Given the description of an element on the screen output the (x, y) to click on. 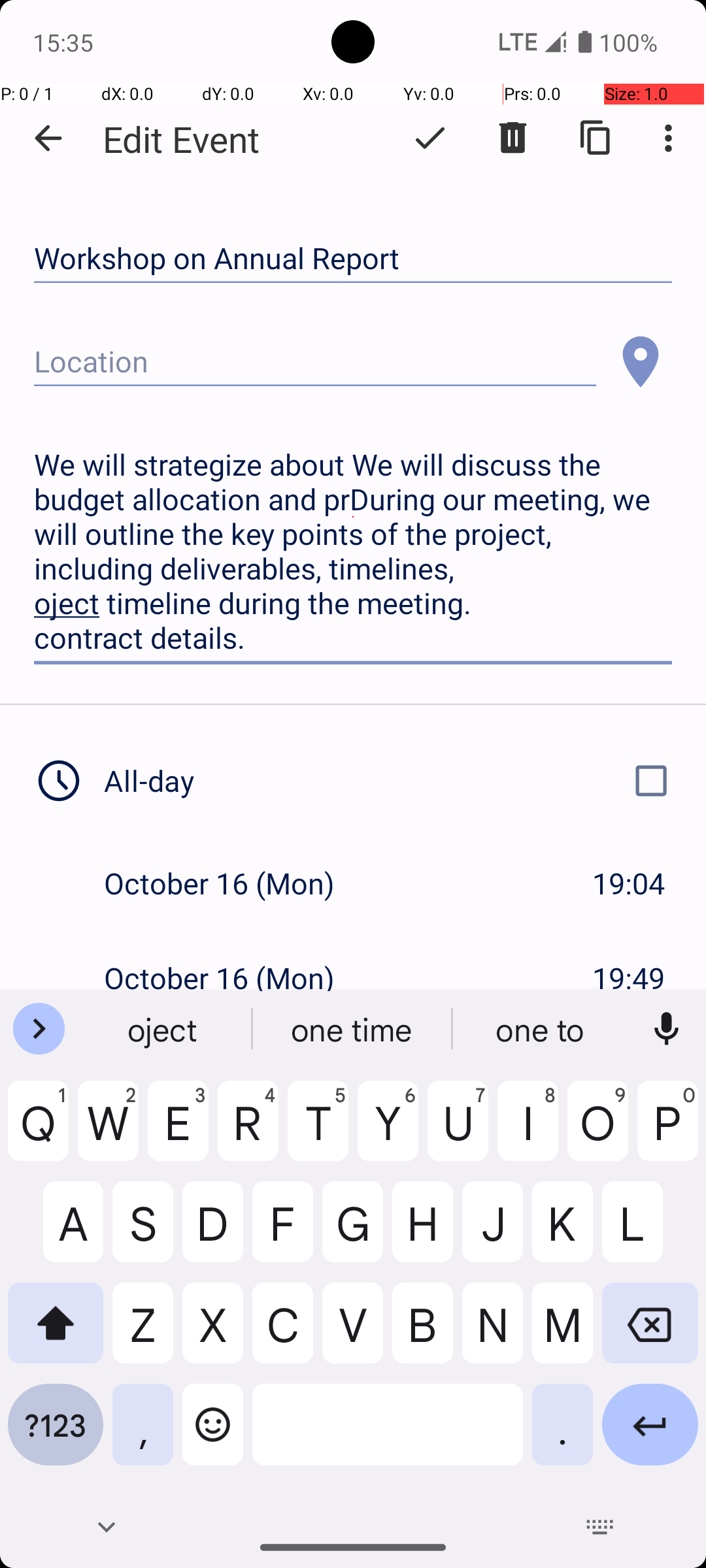
We will strategize about We will discuss the budget allocation and prDuring our meeting, we will outline the key points of the project, including deliverables, timelines,
oject timeline during the meeting.
contract details. Element type: android.widget.EditText (352, 551)
19:04 Element type: android.widget.TextView (628, 882)
19:49 Element type: android.widget.TextView (628, 977)
oject Element type: android.widget.FrameLayout (163, 1028)
one time Element type: android.widget.FrameLayout (352, 1028)
one to Element type: android.widget.FrameLayout (541, 1028)
